Given the description of an element on the screen output the (x, y) to click on. 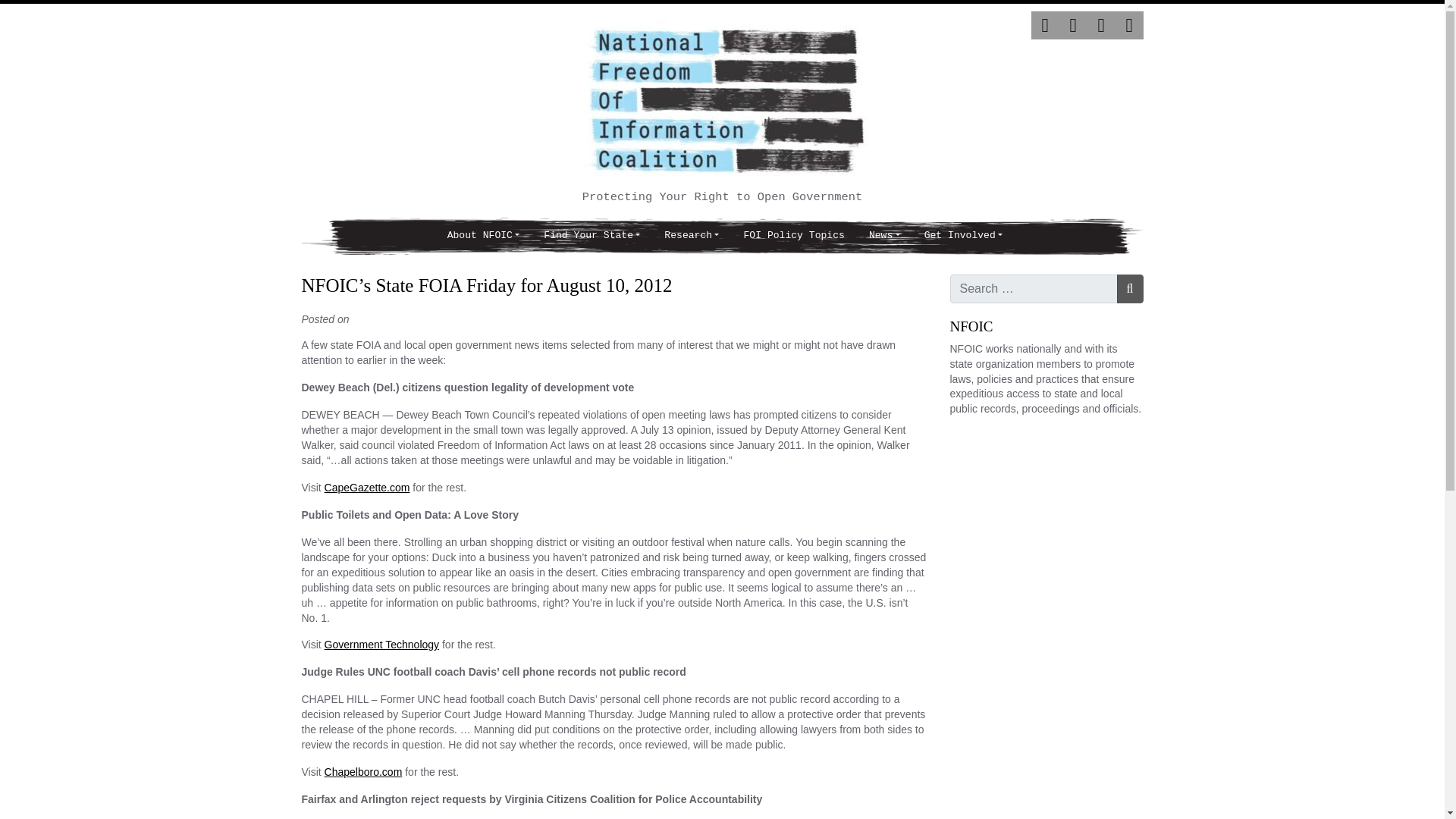
Find Your State (591, 235)
FOI Policy Topics (793, 235)
Chapelboro.com (363, 771)
Instagram (1101, 25)
Twitter (1044, 25)
Research (691, 235)
Facebook (1072, 25)
CapeGazette.com (367, 487)
YouTube (1128, 25)
About NFOIC (483, 235)
